Given the description of an element on the screen output the (x, y) to click on. 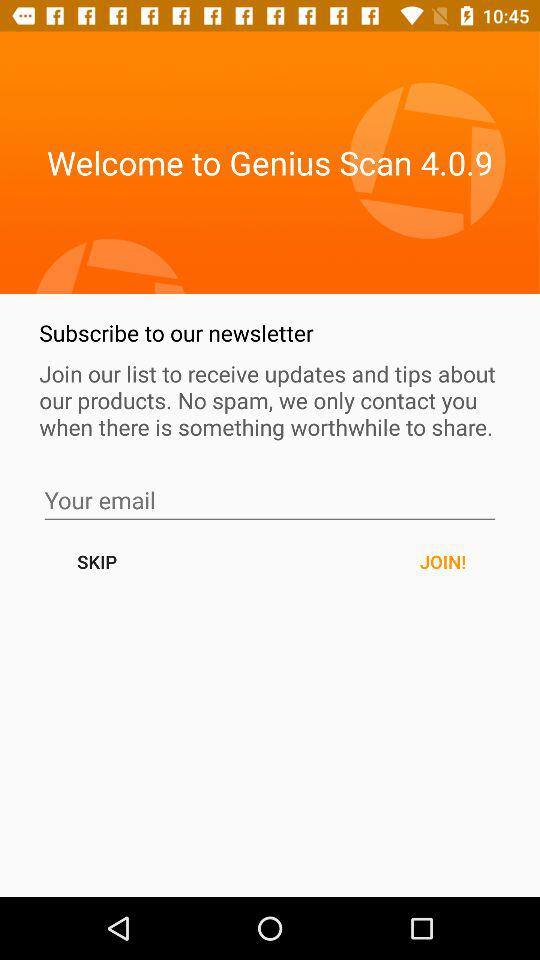
skip (269, 500)
